Given the description of an element on the screen output the (x, y) to click on. 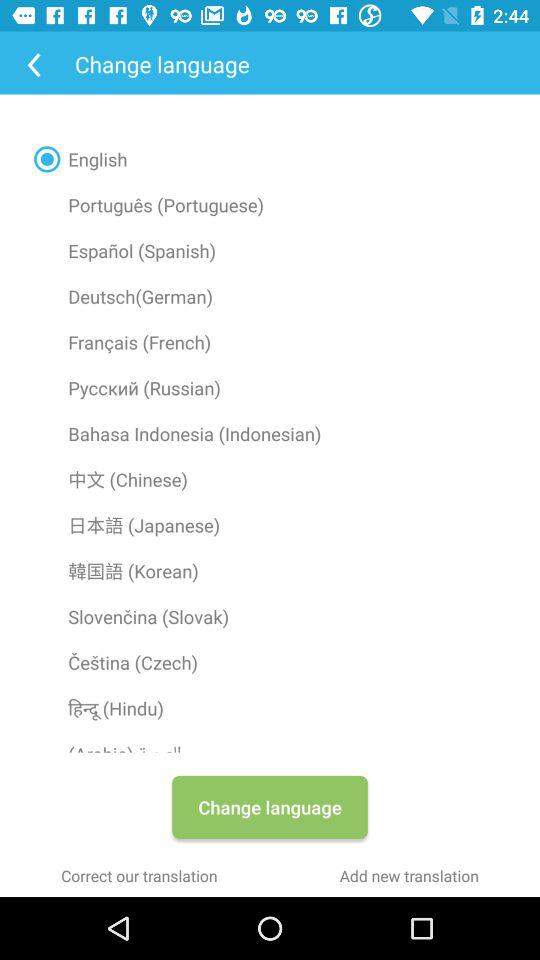
turn on english icon (269, 159)
